Given the description of an element on the screen output the (x, y) to click on. 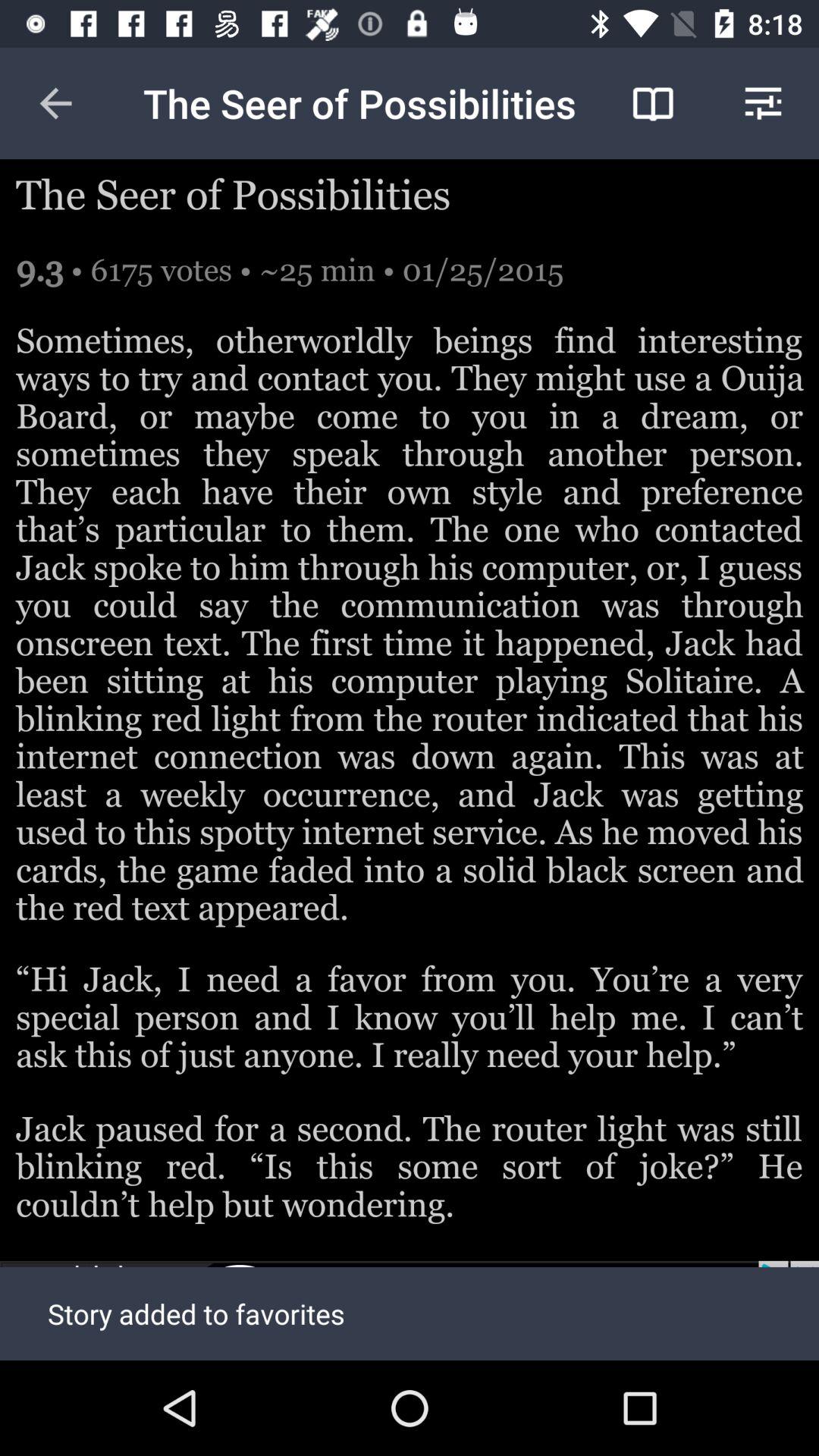
file (409, 1310)
